Given the description of an element on the screen output the (x, y) to click on. 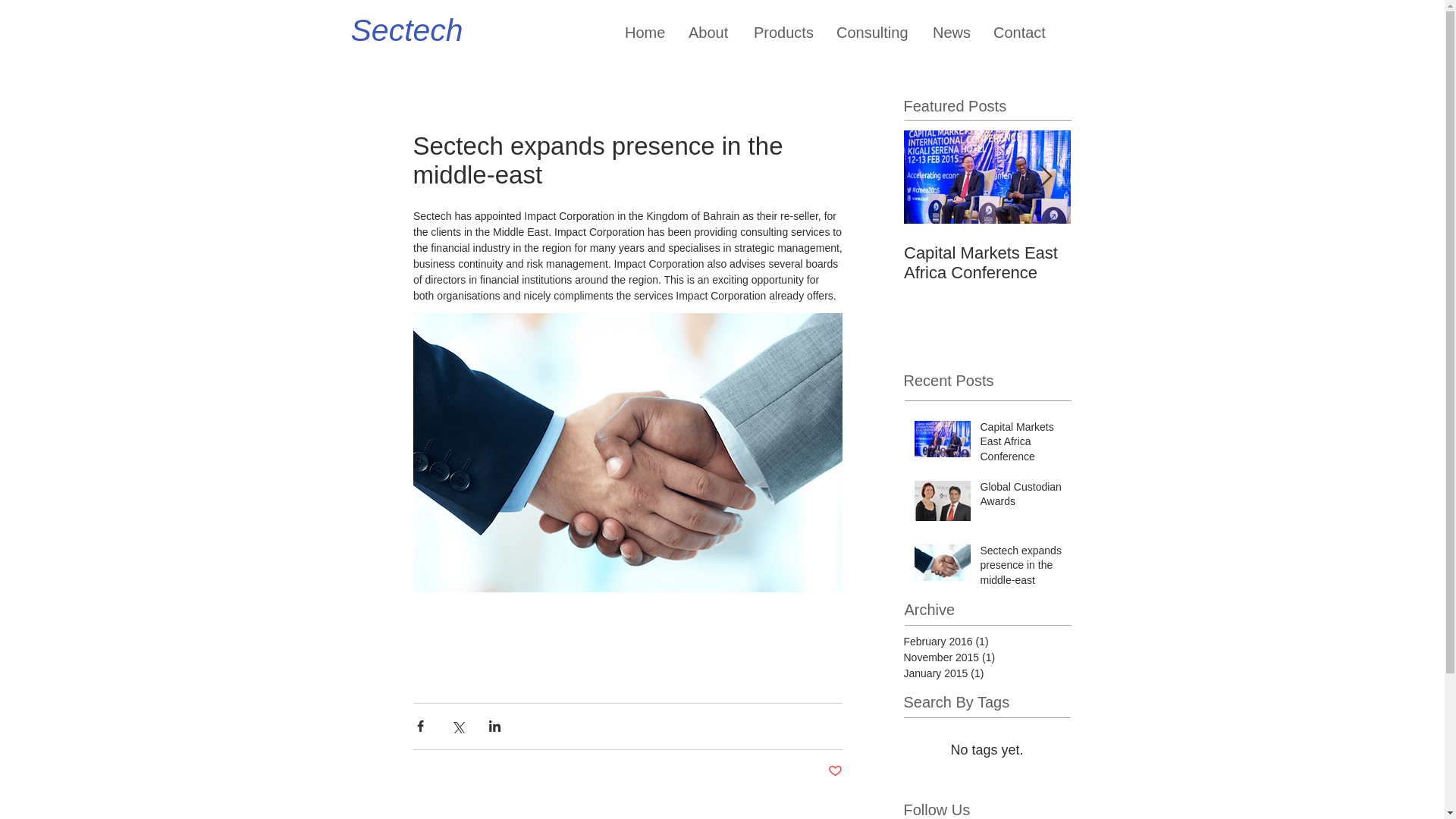
Consulting (873, 32)
Sectech expands presence in the middle-east (1020, 568)
Capital Markets East Africa Conference (987, 262)
Contact (1019, 32)
Products (783, 32)
News (951, 32)
Post not marked as liked (835, 771)
Home (644, 32)
Sectech (406, 30)
Global Custodian Awards (1020, 497)
